Given the description of an element on the screen output the (x, y) to click on. 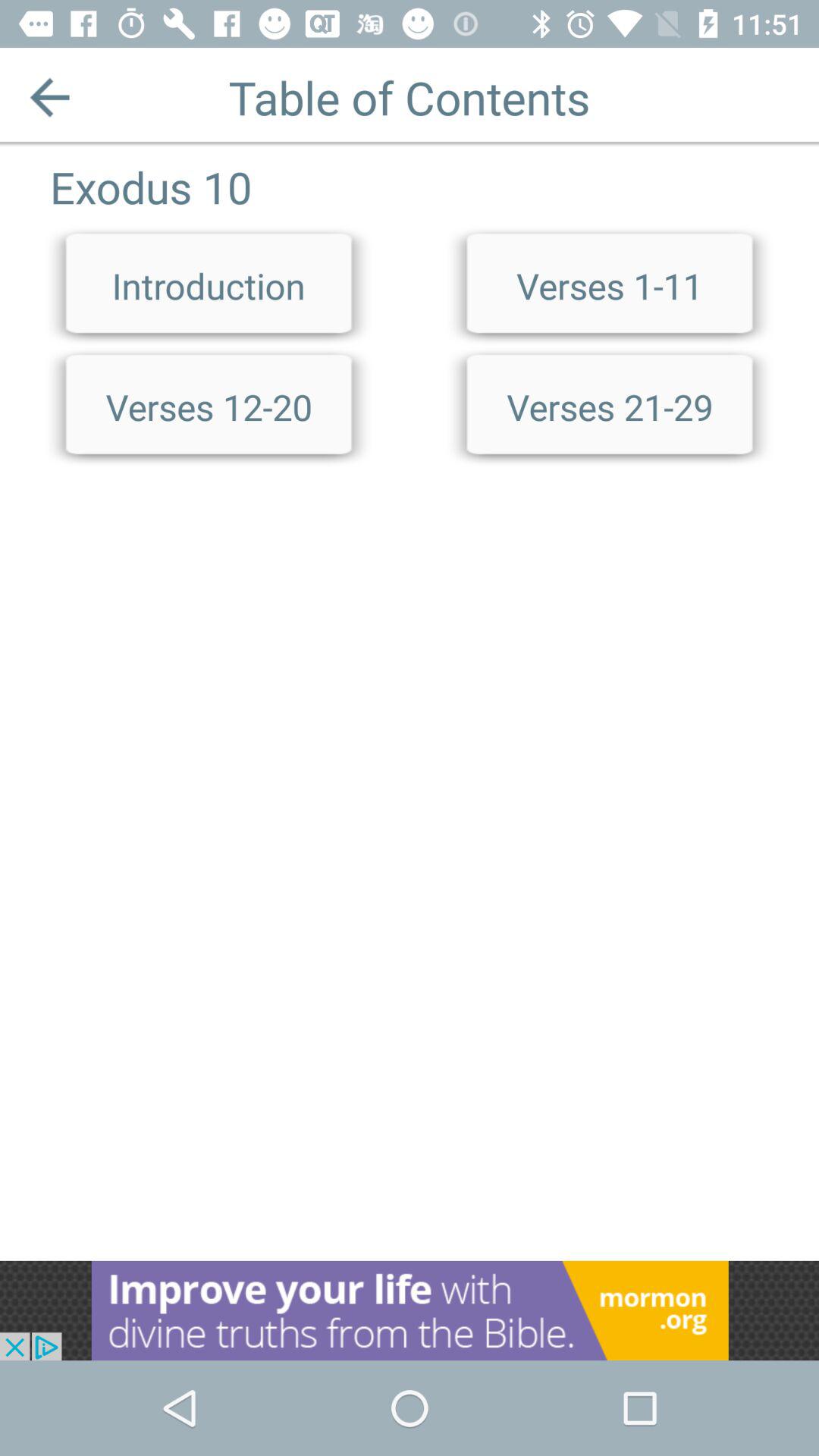
go to previous (49, 97)
